Given the description of an element on the screen output the (x, y) to click on. 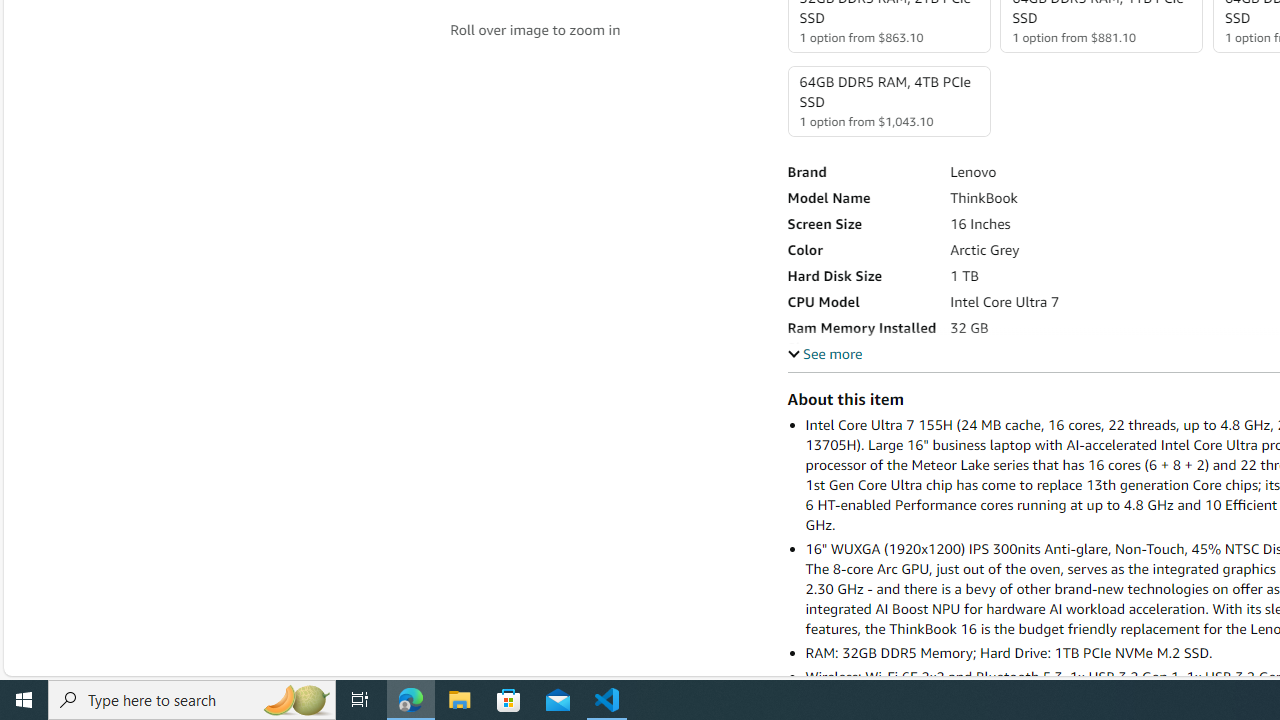
See more (824, 353)
64GB DDR5 RAM, 4TB PCIe SSD 1 option from $1,043.10 (888, 101)
